Given the description of an element on the screen output the (x, y) to click on. 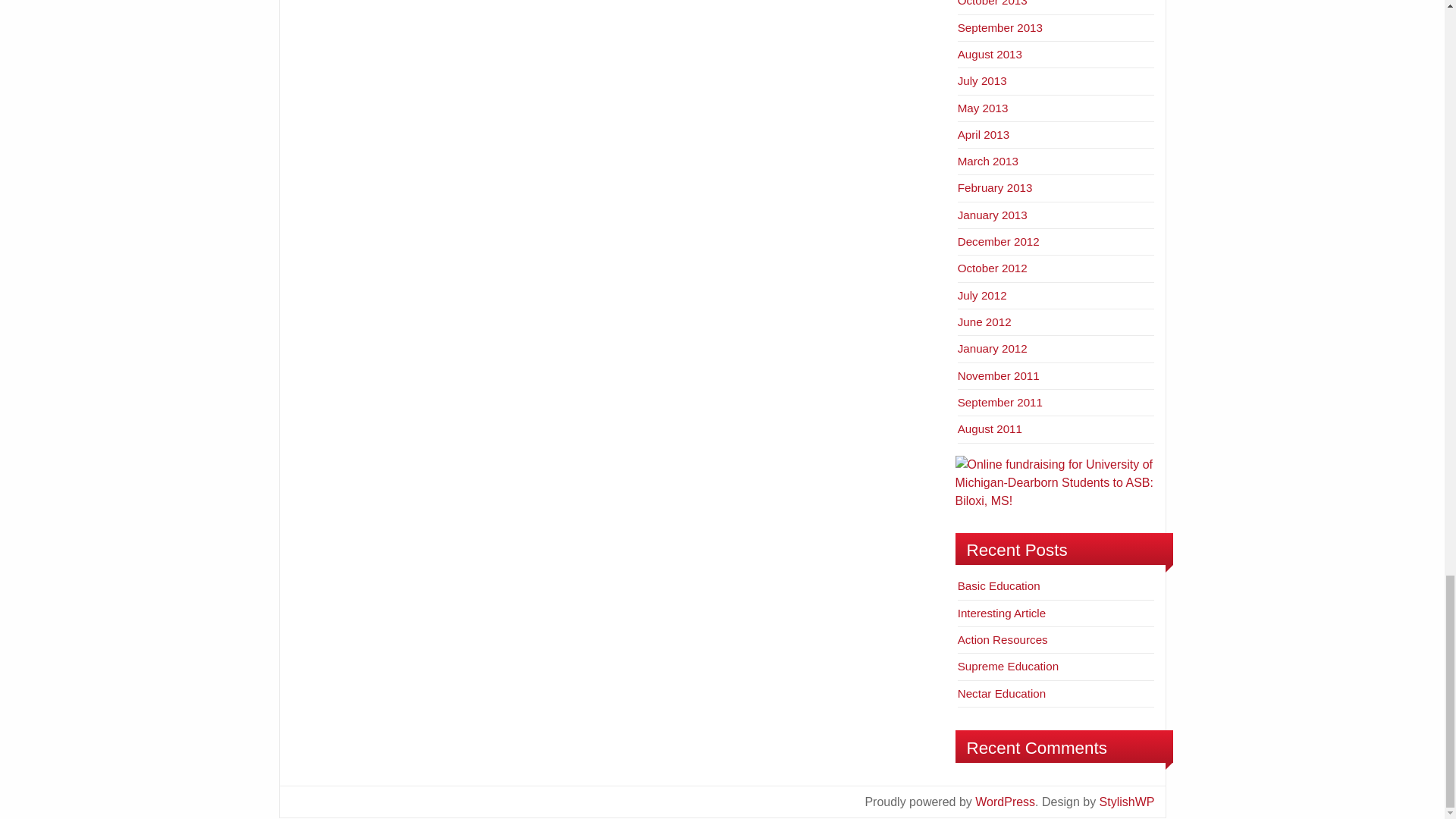
BlogoLife (1126, 801)
